Given the description of an element on the screen output the (x, y) to click on. 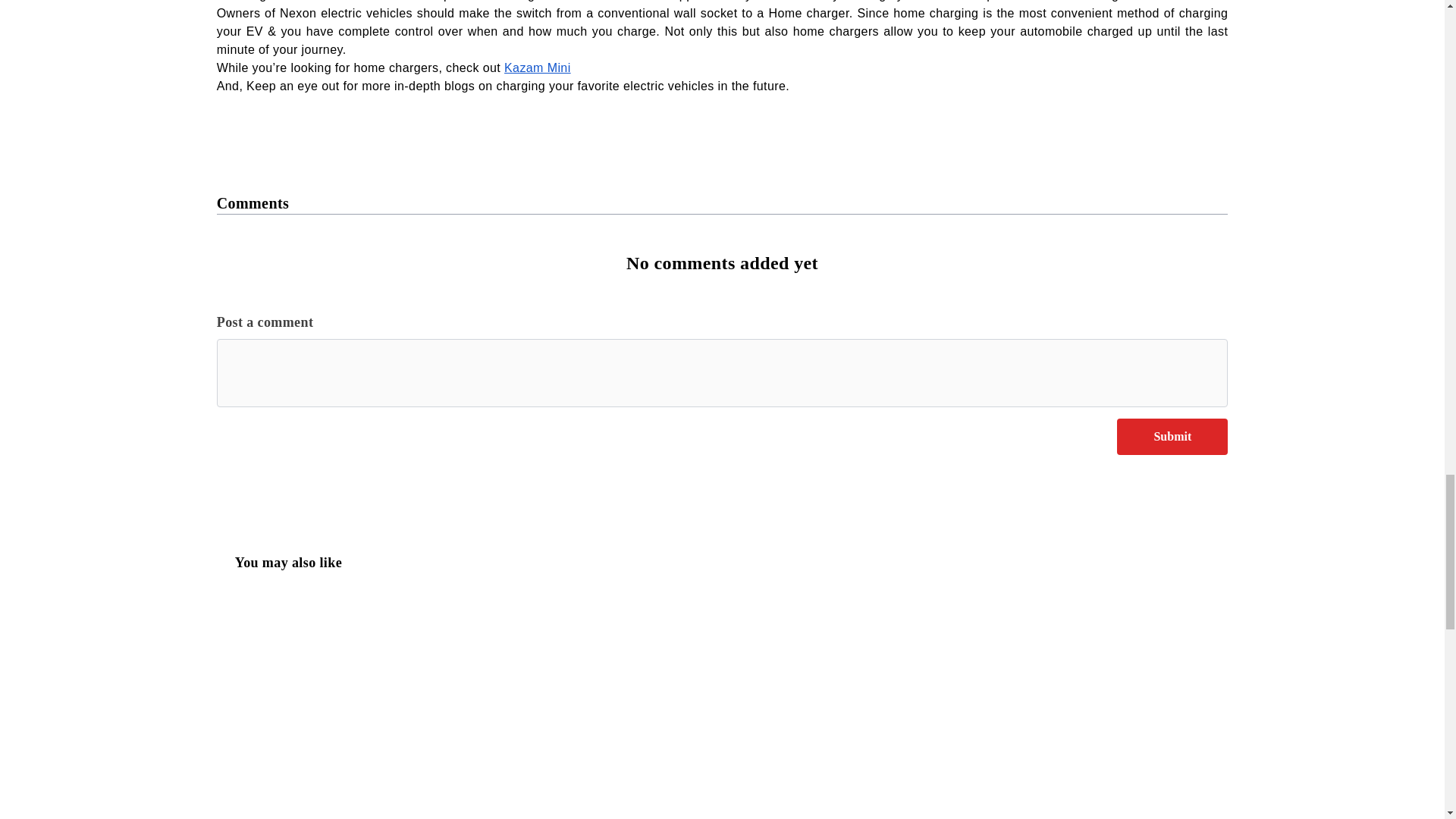
Submit (1171, 436)
Kazam Mini (536, 67)
